Given the description of an element on the screen output the (x, y) to click on. 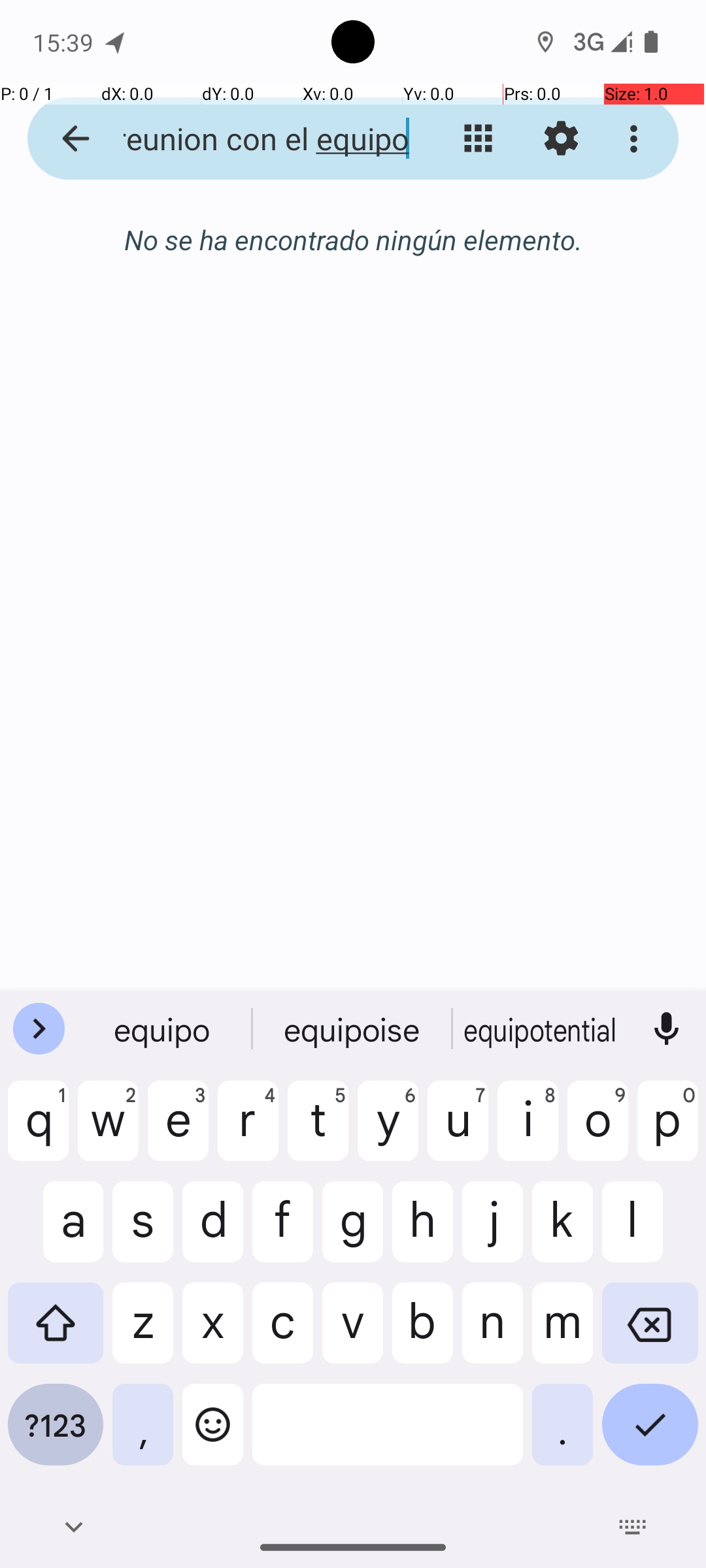
reunion con el equipo Element type: android.widget.EditText (252, 138)
equipo Element type: android.widget.FrameLayout (163, 1028)
equipment Element type: android.widget.FrameLayout (541, 1028)
15:39 Element type: android.widget.TextView (64, 41)
